Given the description of an element on the screen output the (x, y) to click on. 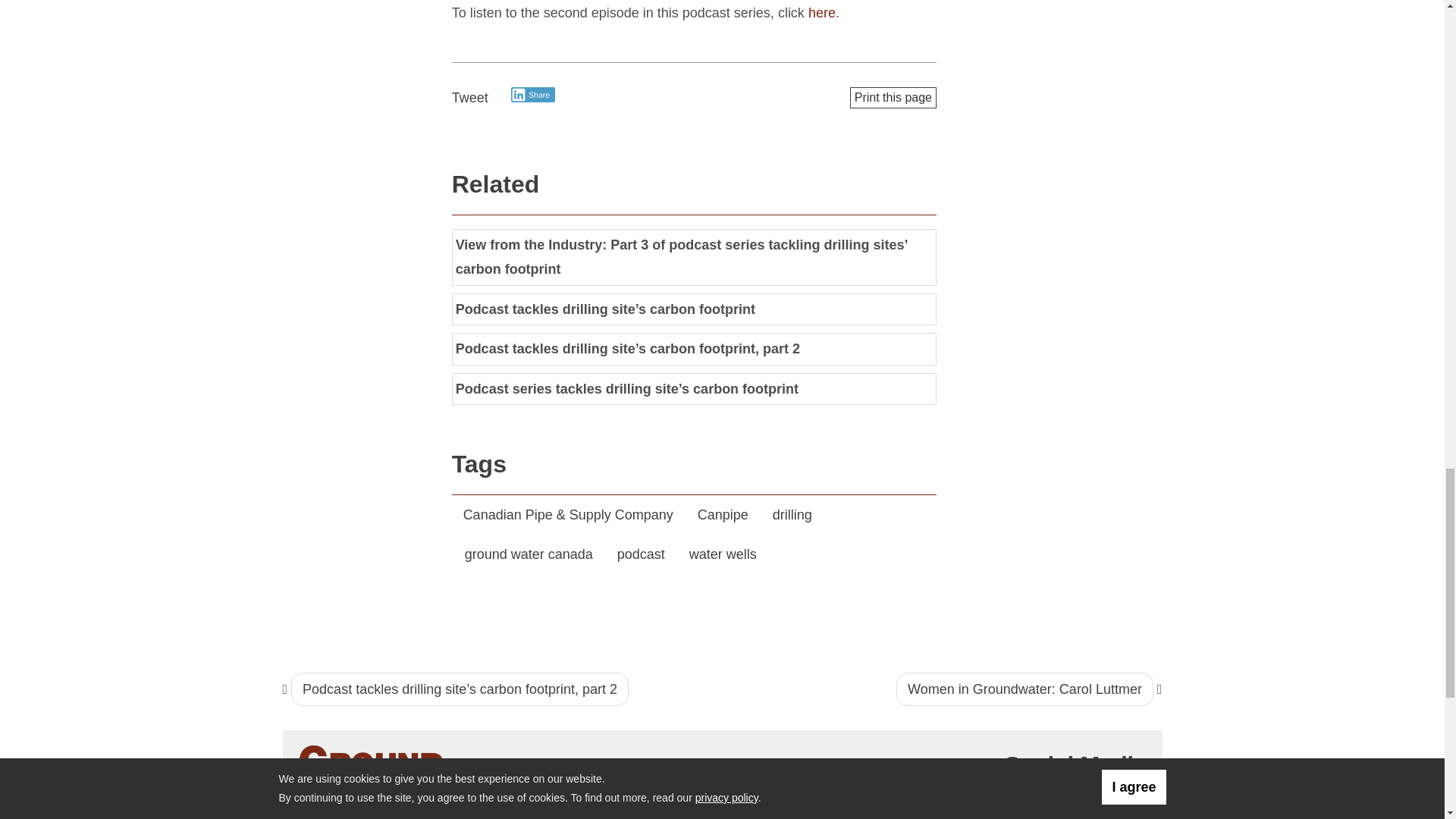
Ground Water Canada (373, 770)
